Given the description of an element on the screen output the (x, y) to click on. 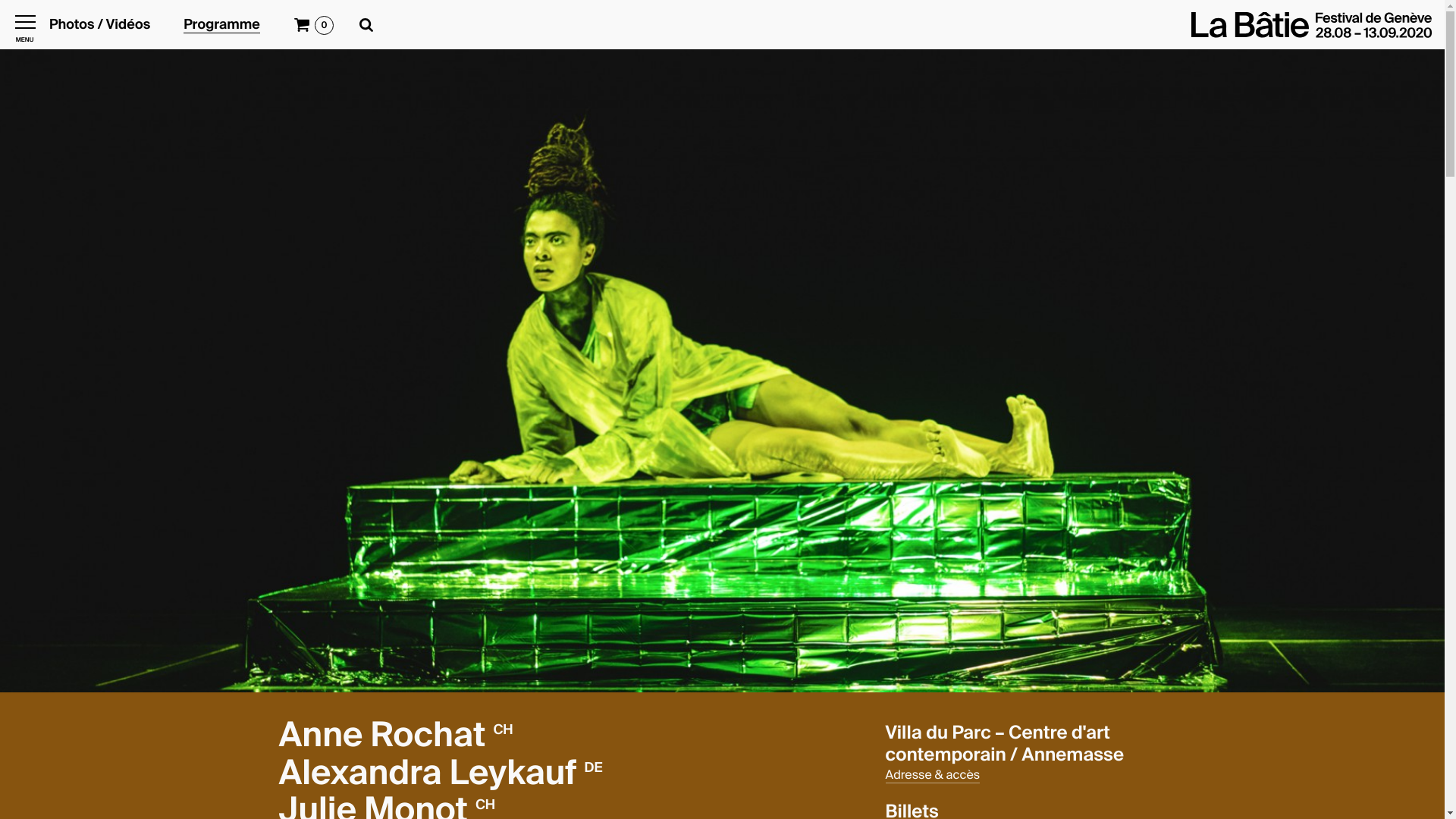
Programme Element type: text (221, 25)
0 Element type: text (323, 24)
MENU Element type: text (24, 24)
